Given the description of an element on the screen output the (x, y) to click on. 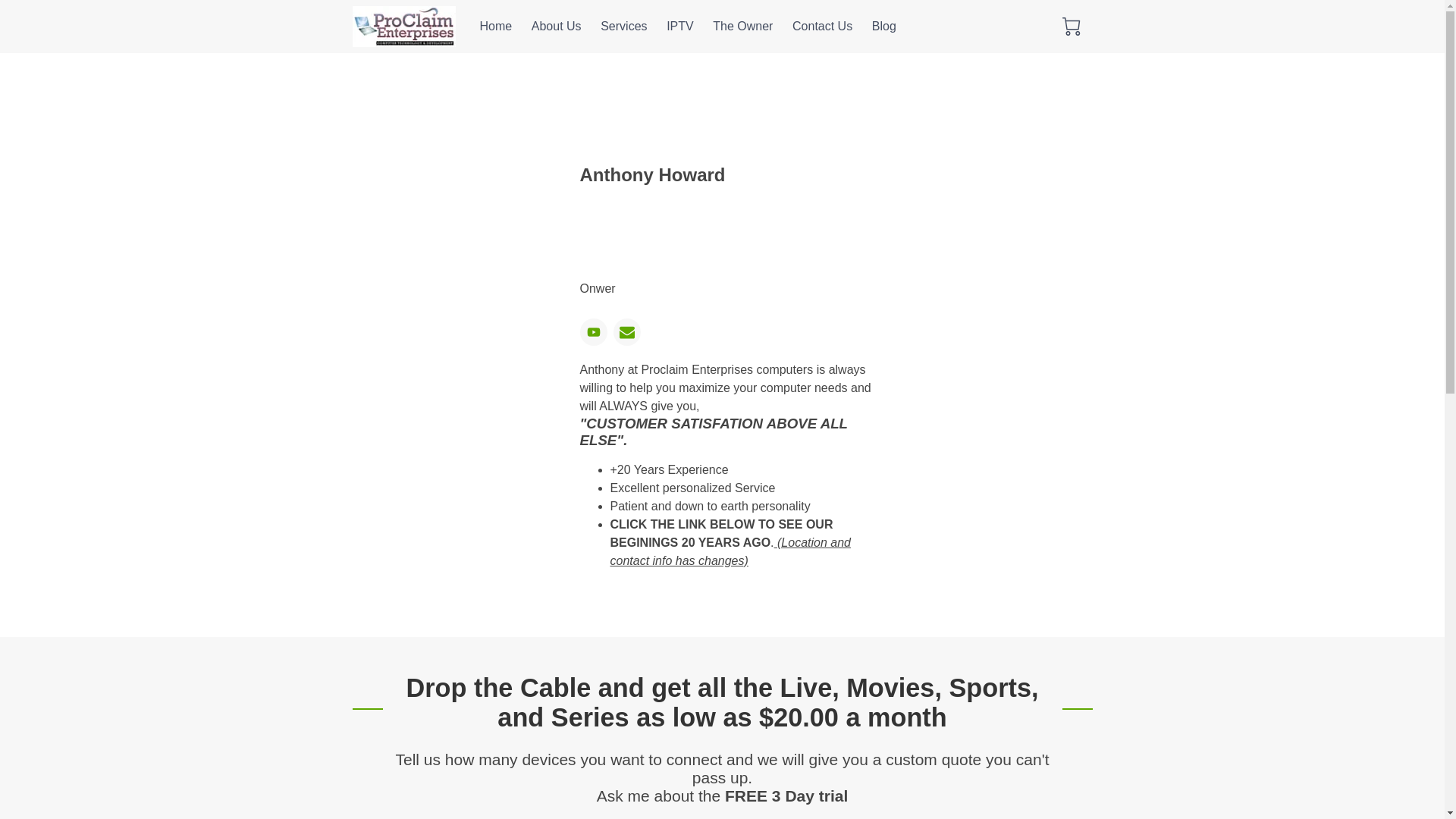
IPTV (680, 26)
0 (1070, 26)
Services (622, 26)
About Us (555, 26)
Home (495, 26)
Contact Us (821, 26)
Blog (884, 26)
The Owner (743, 26)
